Given the description of an element on the screen output the (x, y) to click on. 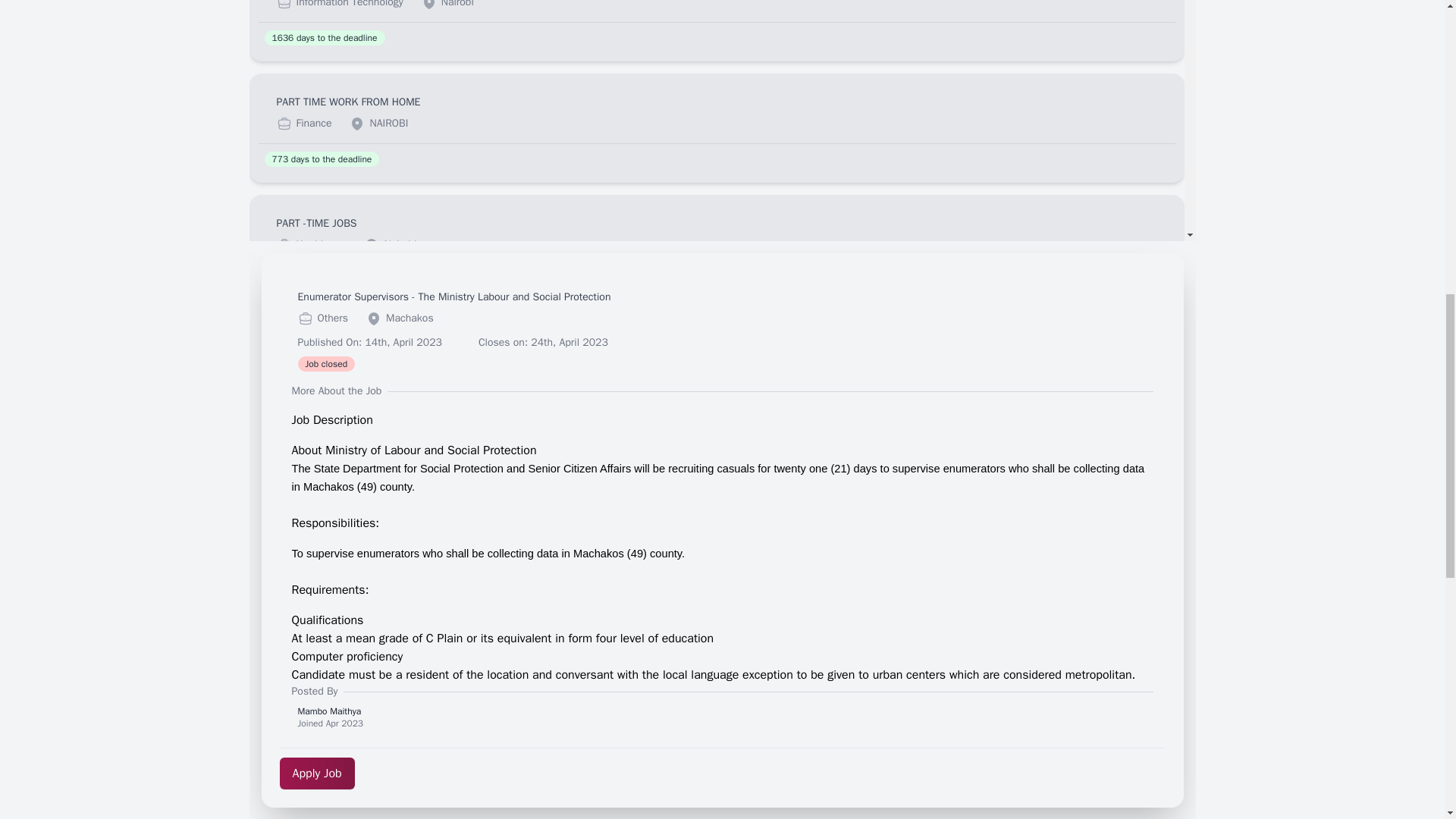
4 (966, 691)
3 (936, 691)
2 (904, 691)
5 (998, 691)
